Given the description of an element on the screen output the (x, y) to click on. 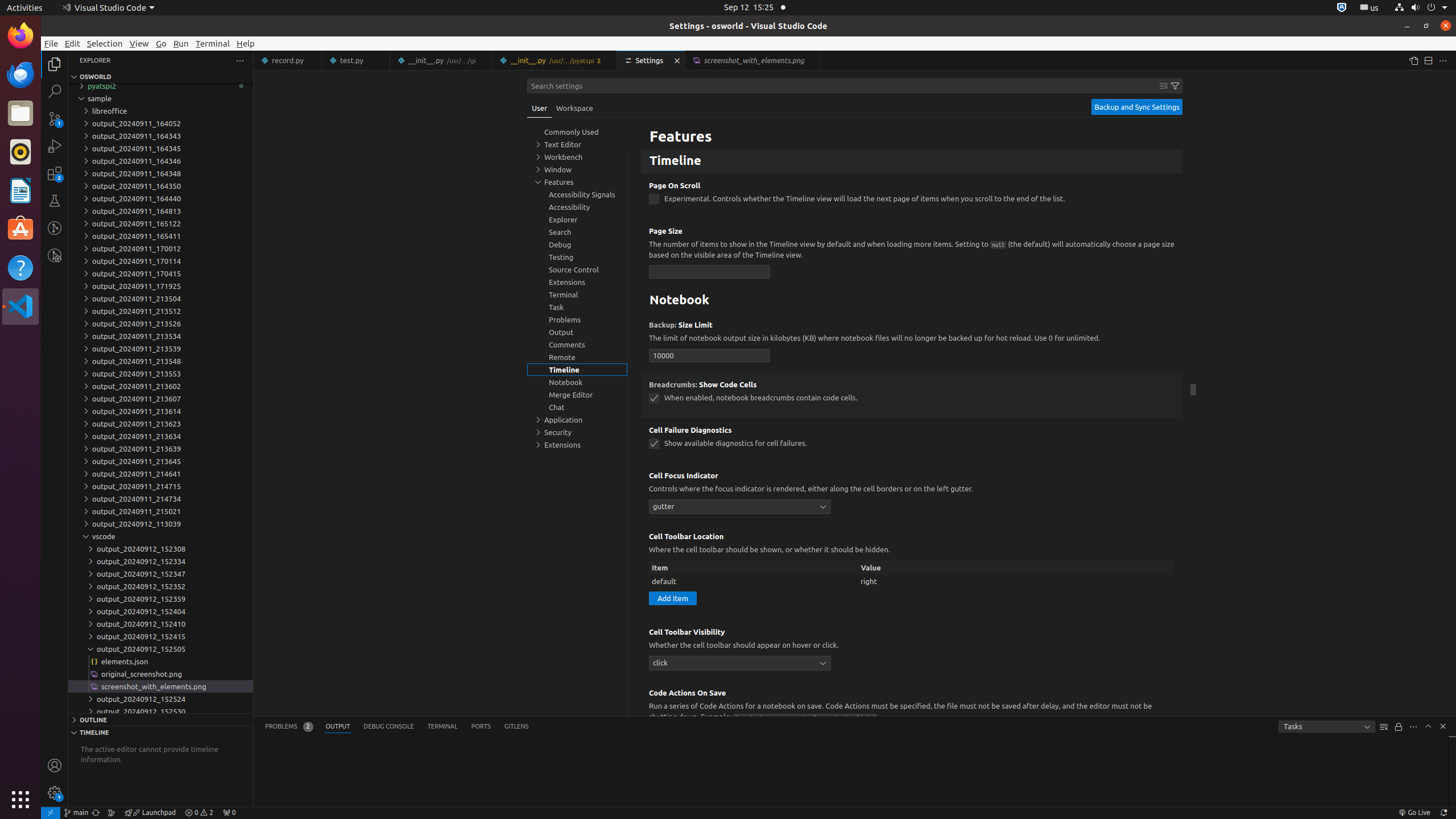
Tasks Element type: menu-item (1326, 726)
output_20240912_152404 Element type: tree-item (160, 611)
output_20240911_213504 Element type: tree-item (160, 298)
Views and More Actions... Element type: push-button (1413, 726)
Accessibility Signals, group Element type: tree-item (577, 194)
